Given the description of an element on the screen output the (x, y) to click on. 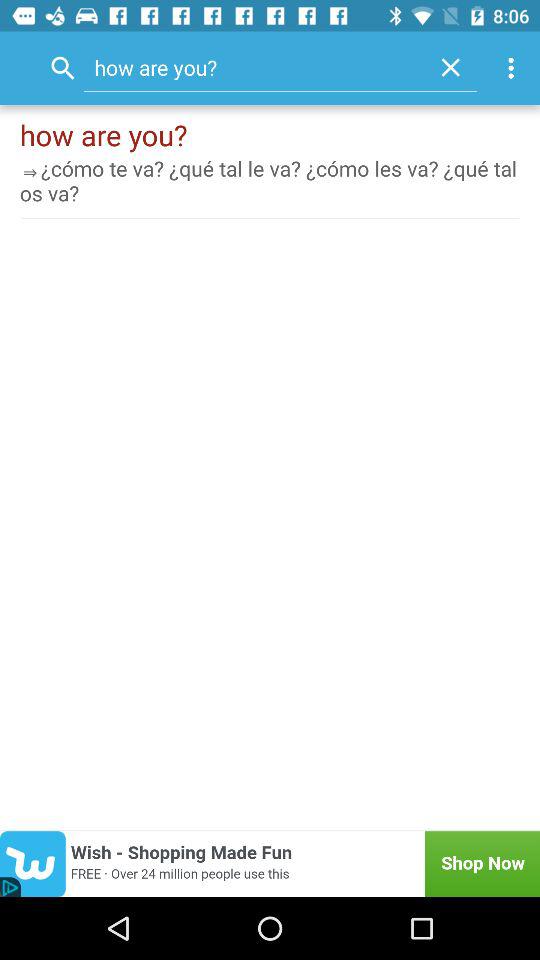
click on the advertisement (270, 864)
